Given the description of an element on the screen output the (x, y) to click on. 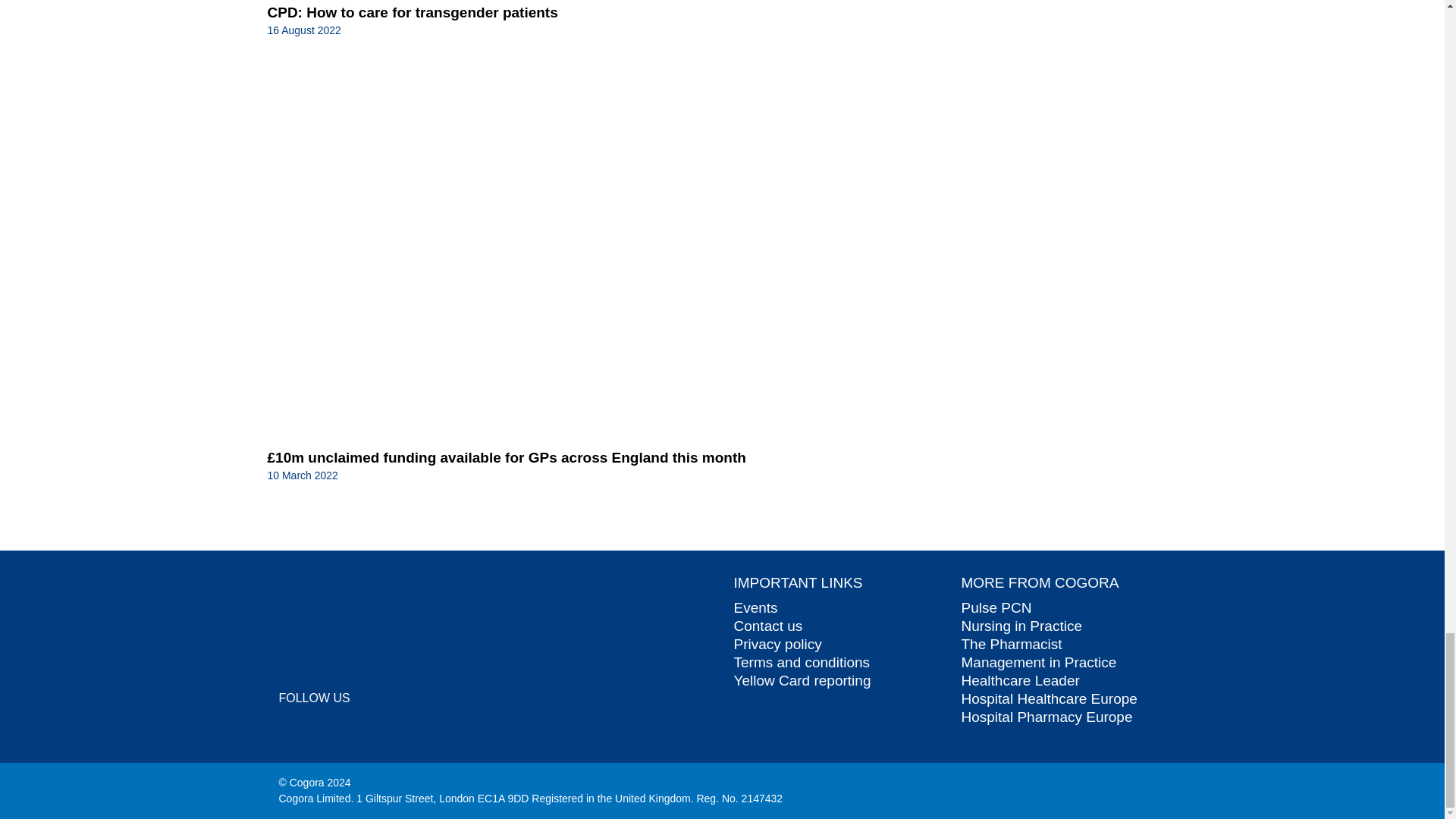
Privacy policy (777, 643)
Contact us (768, 625)
Events (755, 607)
